Given the description of an element on the screen output the (x, y) to click on. 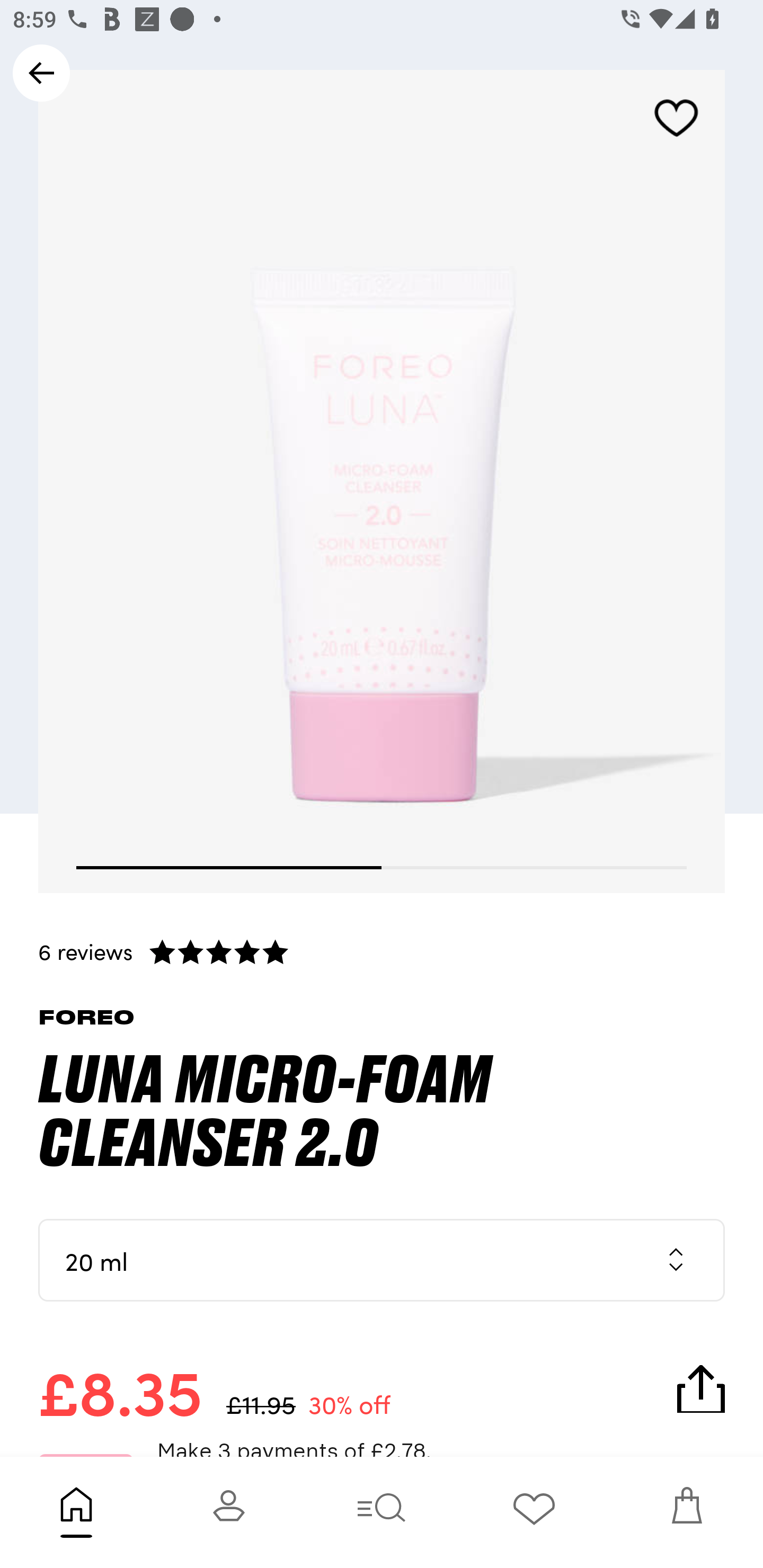
6 reviews (381, 950)
20 ml  (381, 1259)
